Given the description of an element on the screen output the (x, y) to click on. 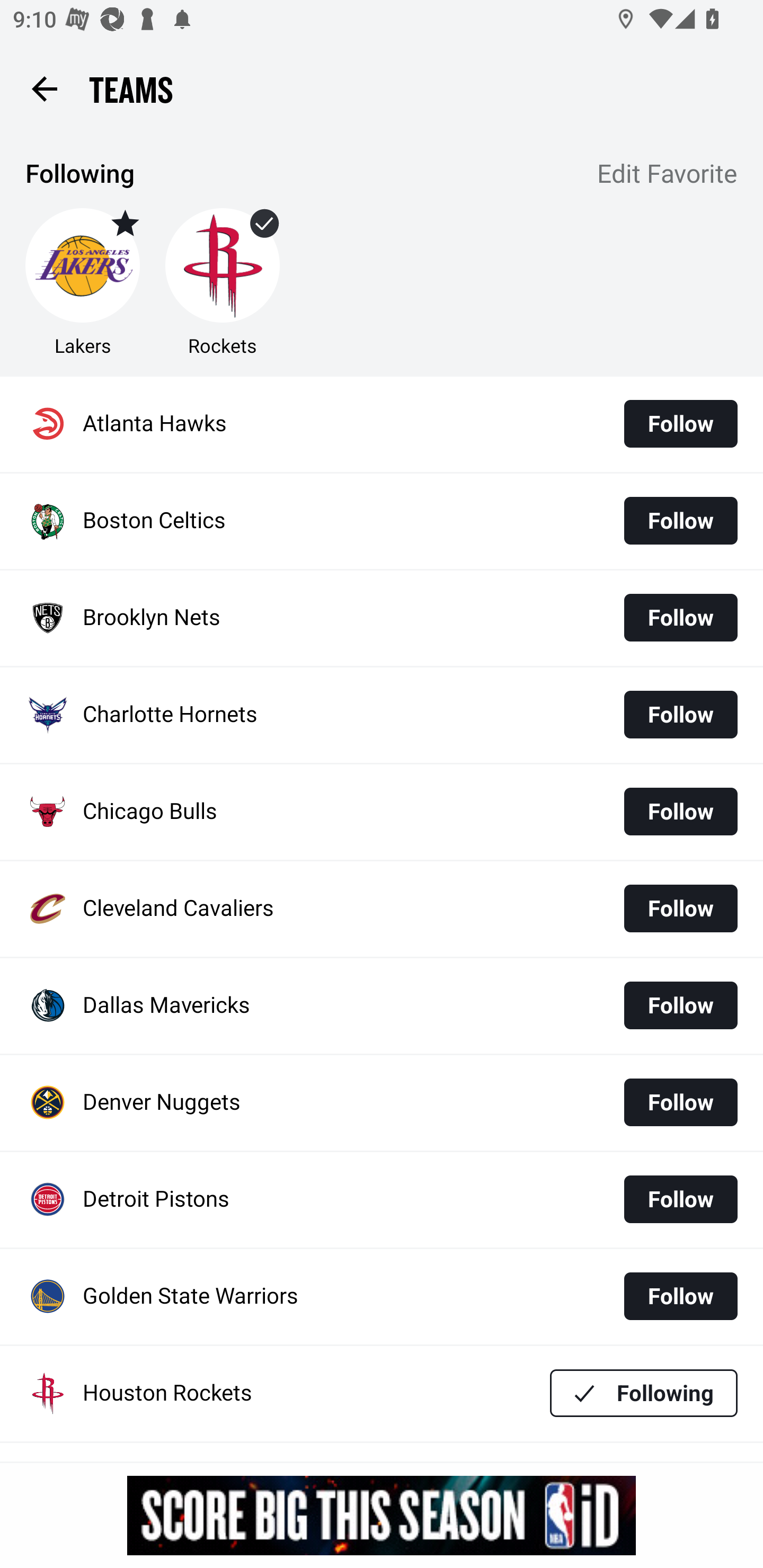
Back button (44, 88)
Edit Favorite (667, 175)
Atlanta Hawks Follow (381, 423)
Follow (680, 423)
Boston Celtics Follow (381, 521)
Follow (680, 520)
Brooklyn Nets Follow (381, 618)
Follow (680, 617)
Charlotte Hornets Follow (381, 714)
Follow (680, 713)
Chicago Bulls Follow (381, 812)
Follow (680, 811)
Cleveland Cavaliers Follow (381, 908)
Follow (680, 908)
Dallas Mavericks Follow (381, 1005)
Follow (680, 1005)
Denver Nuggets Follow (381, 1102)
Follow (680, 1101)
Detroit Pistons Follow (381, 1200)
Follow (680, 1199)
Golden State Warriors Follow (381, 1296)
Follow (680, 1295)
Houston Rockets Following (381, 1392)
Following (643, 1392)
g5nqqygr7owph (381, 1515)
